Given the description of an element on the screen output the (x, y) to click on. 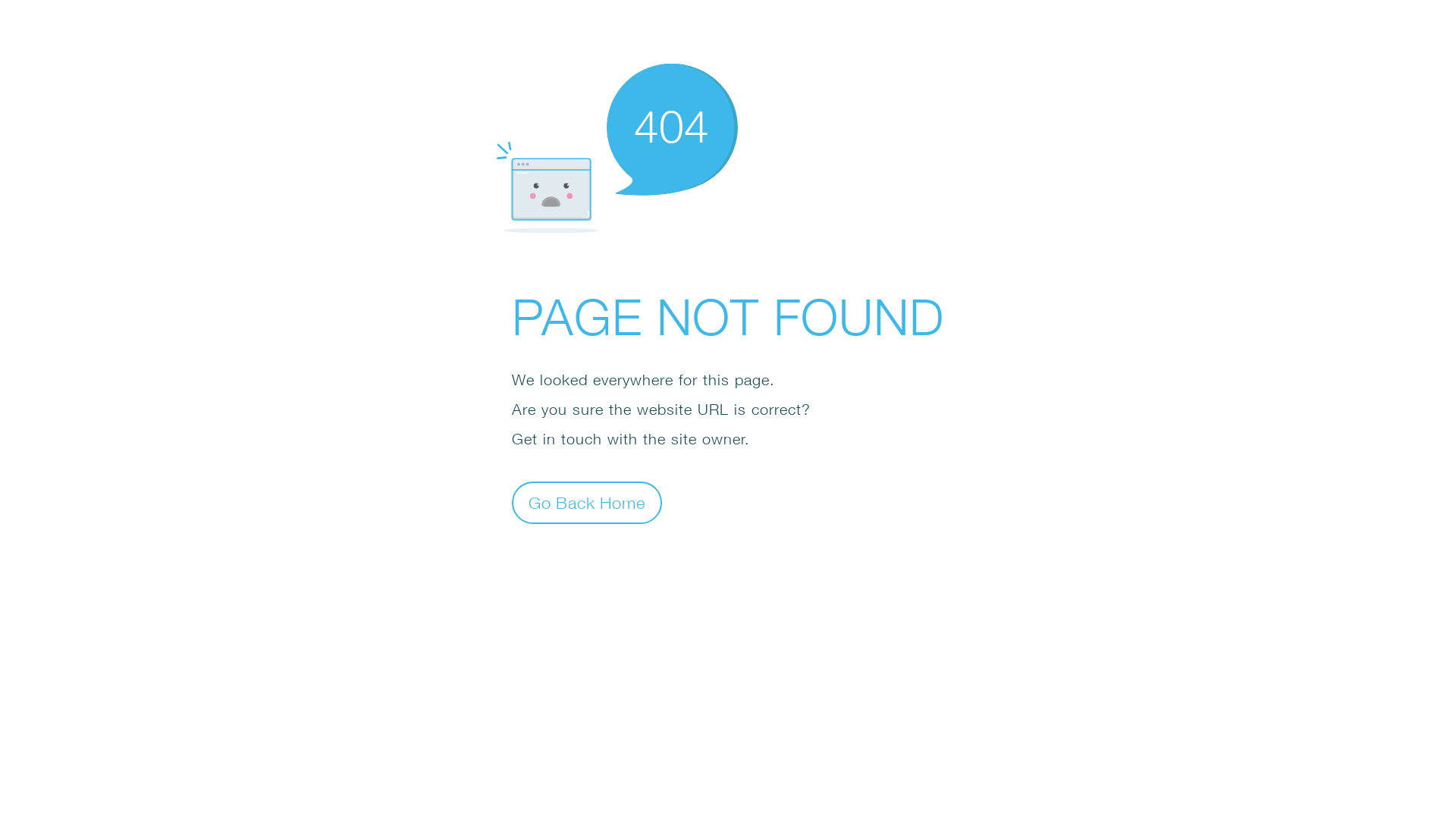
Go Back Home Element type: text (586, 502)
